Given the description of an element on the screen output the (x, y) to click on. 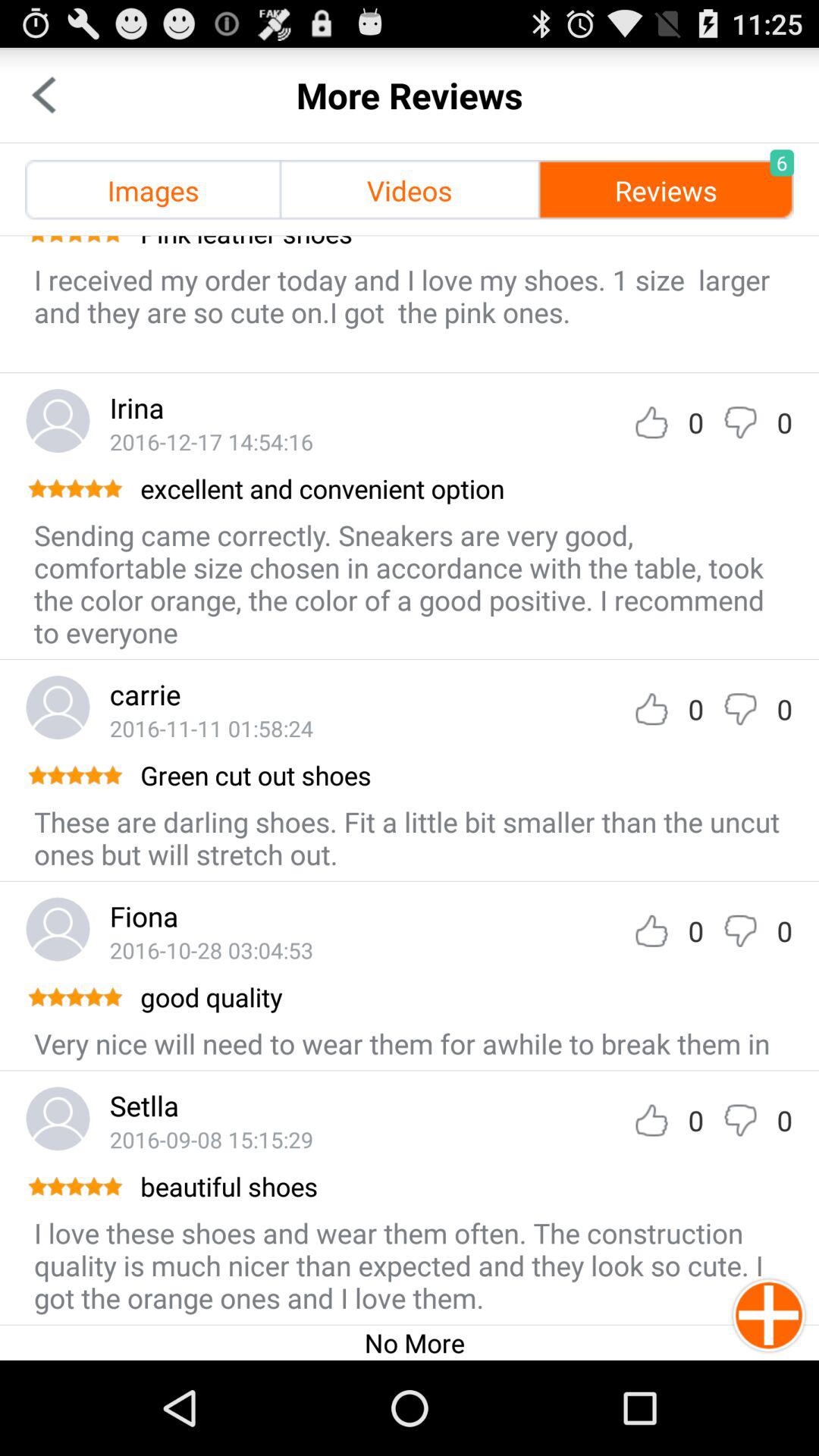
dislikes the review (740, 422)
